Given the description of an element on the screen output the (x, y) to click on. 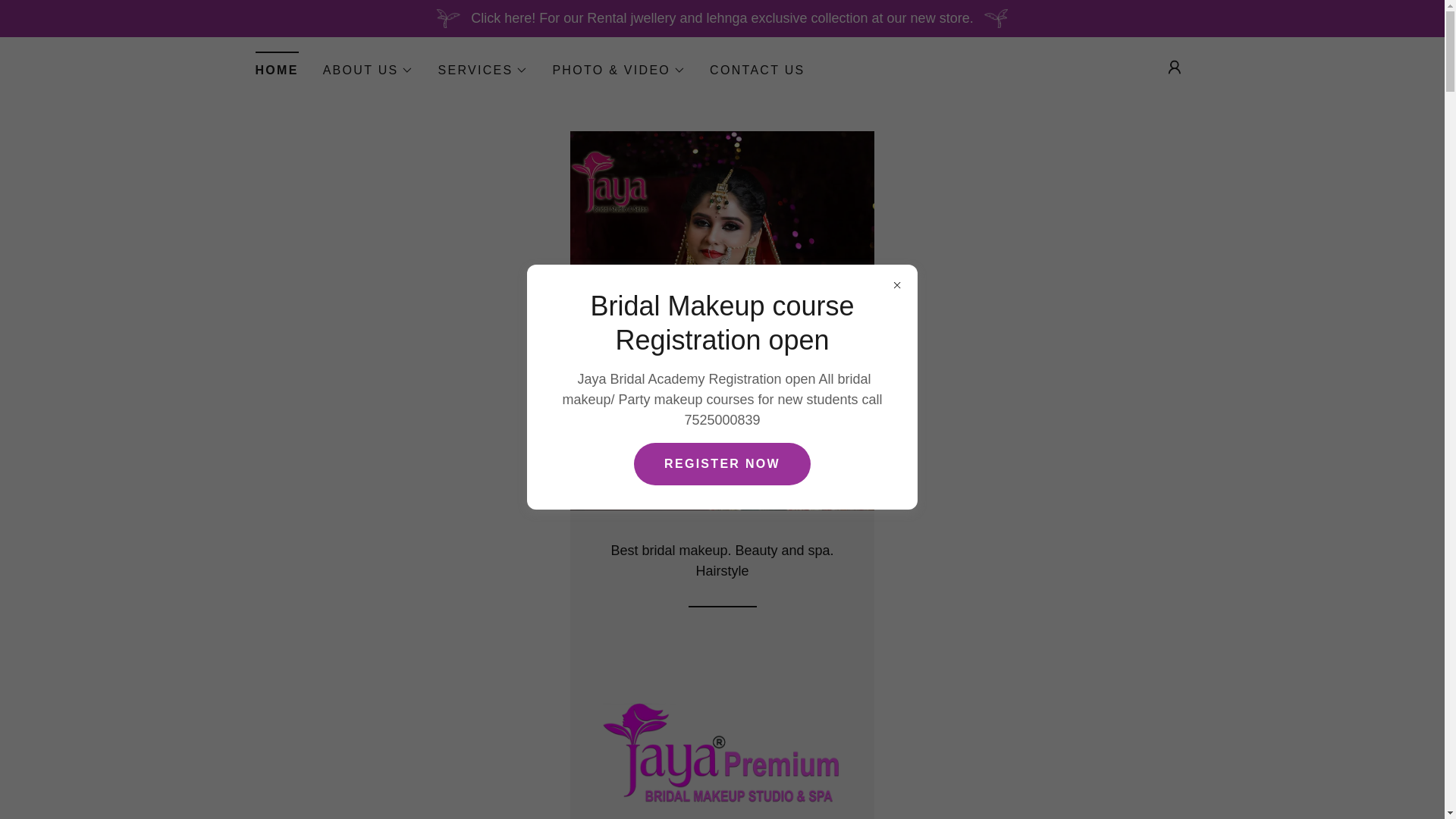
ABOUT US (368, 70)
CONTACT US (756, 70)
SERVICES (482, 70)
Our Products for sale (721, 751)
HOME (276, 65)
